Given the description of an element on the screen output the (x, y) to click on. 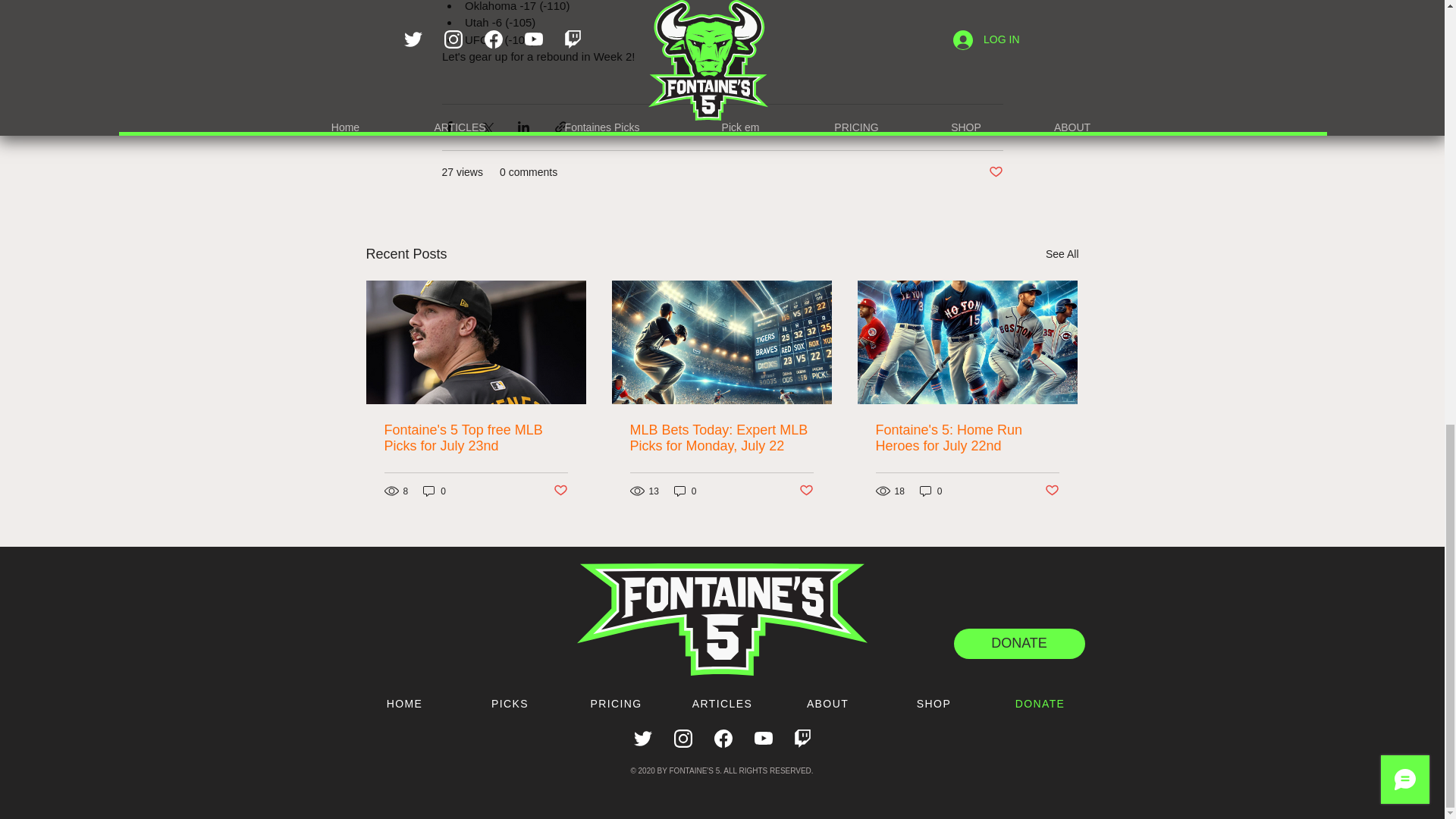
See All (1061, 254)
Post not marked as liked (806, 490)
Post not marked as liked (995, 172)
MLB Bets Today: Expert MLB Picks for Monday, July 22 (720, 438)
Post not marked as liked (560, 490)
0 (685, 490)
Fontaine's 5 Top free MLB Picks for July 23nd (475, 438)
0 (434, 490)
